Given the description of an element on the screen output the (x, y) to click on. 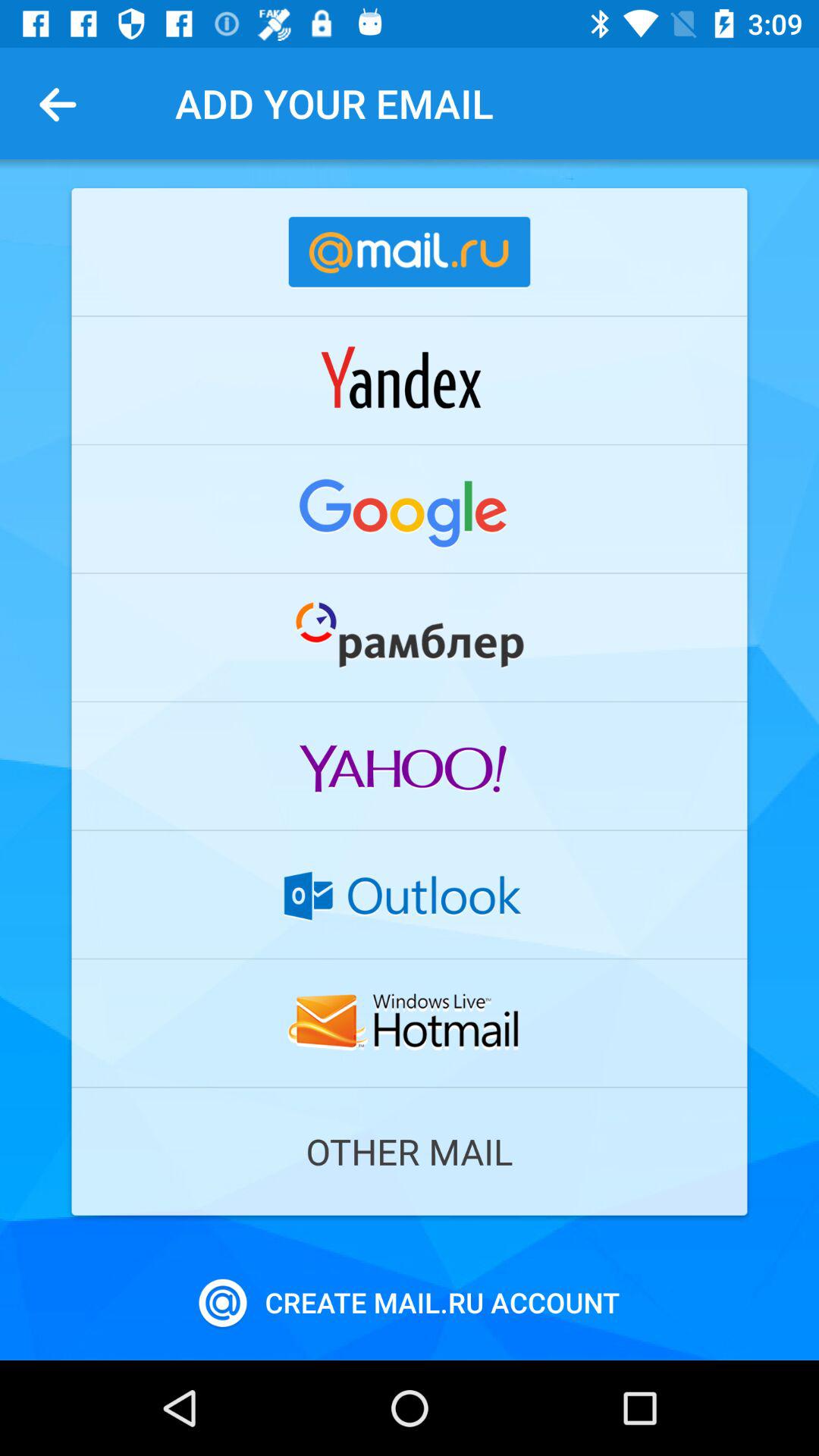
select option (409, 894)
